Given the description of an element on the screen output the (x, y) to click on. 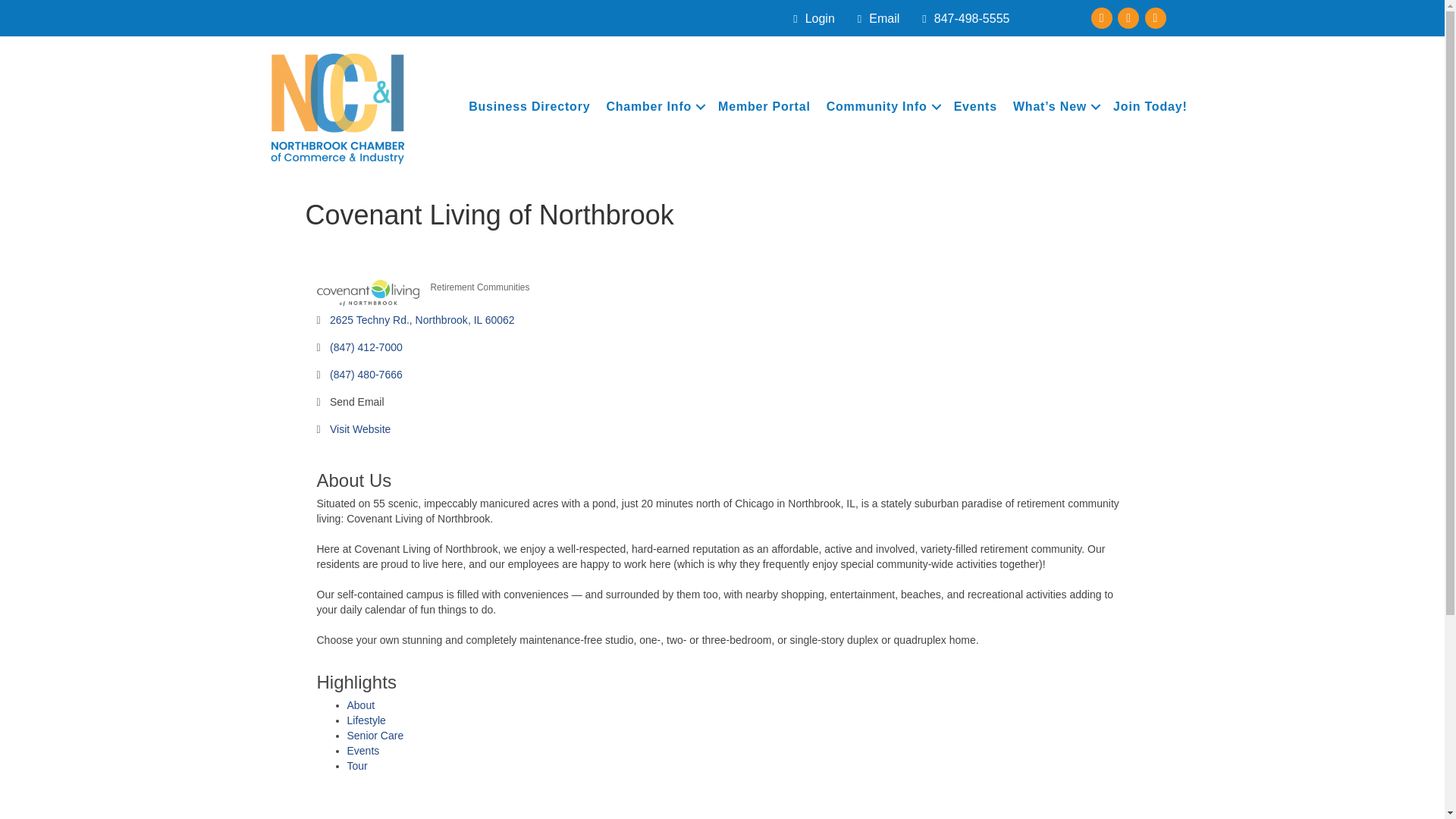
Join Today! (1149, 106)
Send Email (357, 401)
Covenant Living of Northbrook (368, 293)
Business Directory (528, 106)
Senior Care (375, 735)
Email (874, 18)
Community Info (881, 106)
2625 Techny Rd. Northbrook IL 60062 (422, 319)
Northbrook Chamber logo (336, 106)
Member Portal (764, 106)
Events (975, 106)
About (361, 705)
Tour (357, 766)
Visit Website (360, 429)
Lifestyle (366, 720)
